Given the description of an element on the screen output the (x, y) to click on. 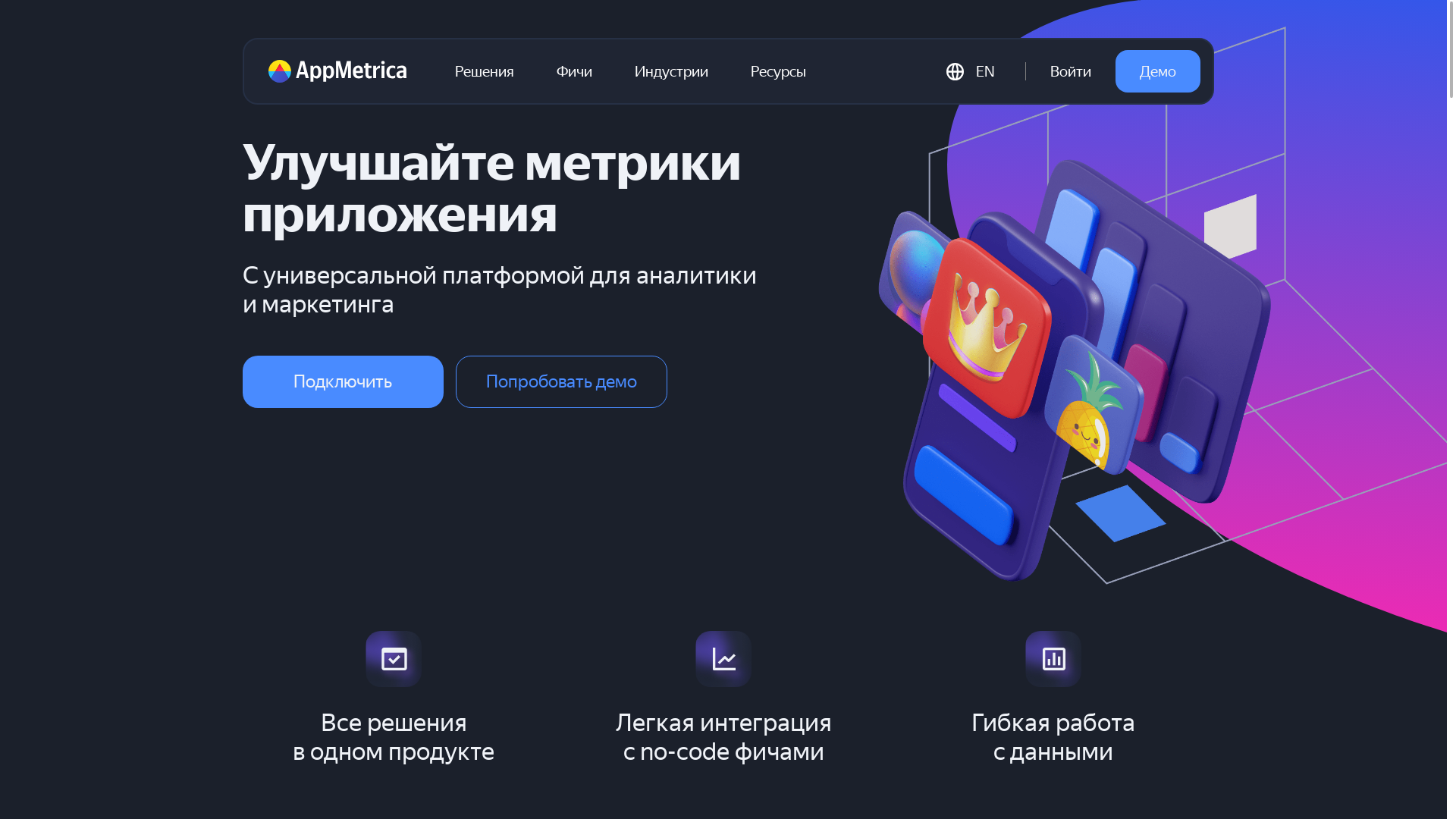
EN Element type: text (973, 71)
